Given the description of an element on the screen output the (x, y) to click on. 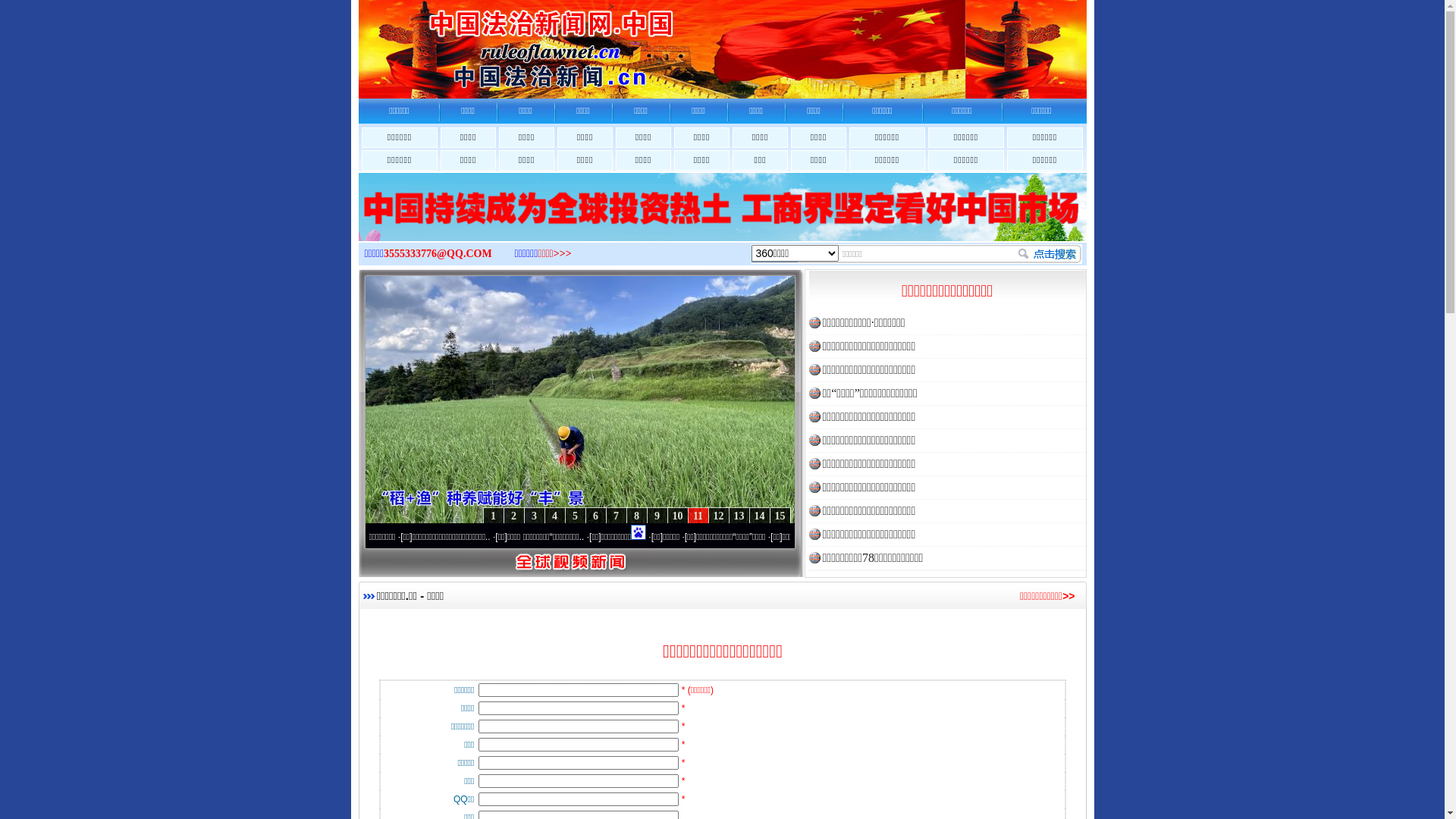
3555333776@QQ.COM Element type: text (437, 253)
